Given the description of an element on the screen output the (x, y) to click on. 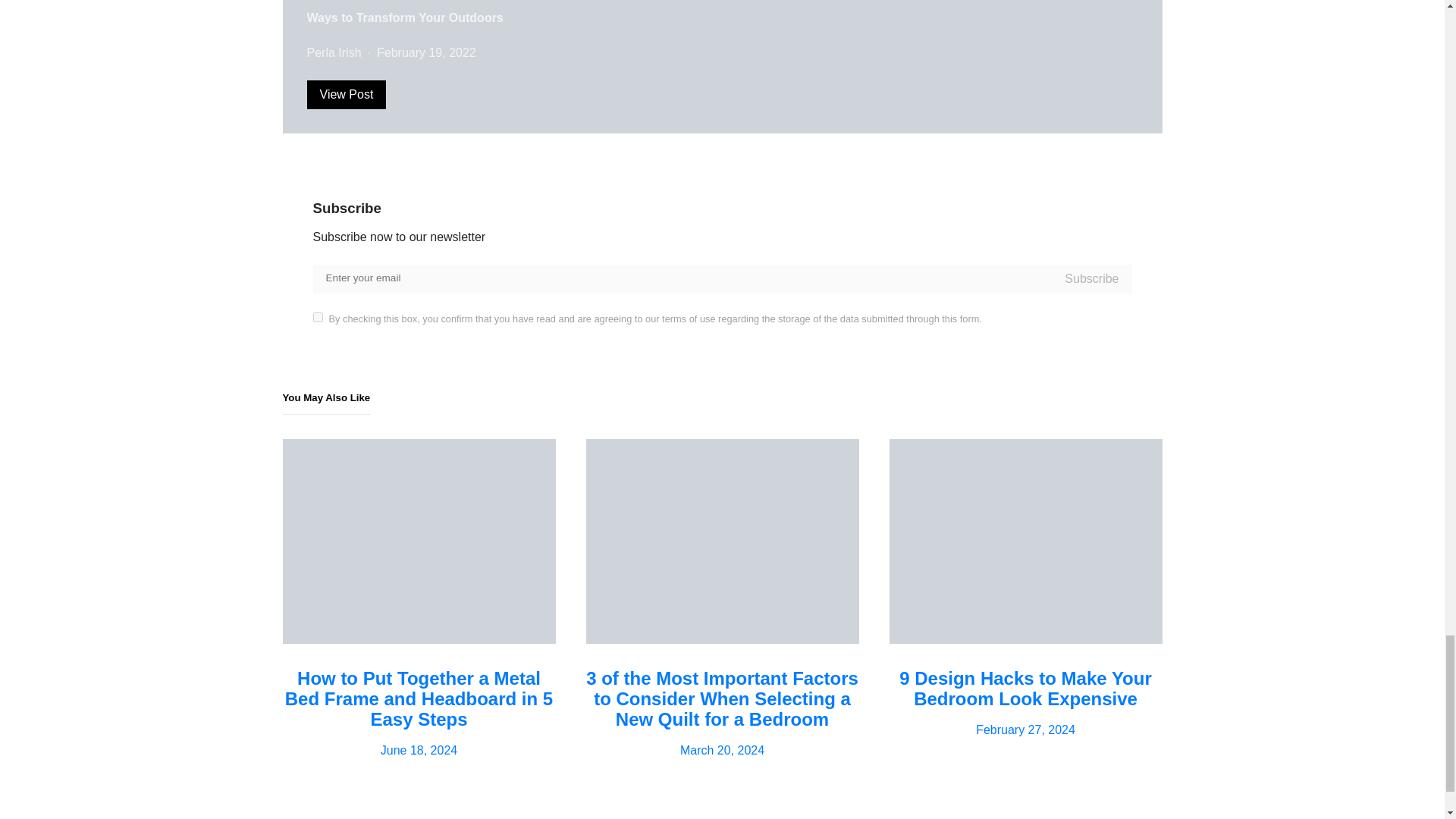
View all posts by Perla Irish (333, 51)
on (317, 317)
